Given the description of an element on the screen output the (x, y) to click on. 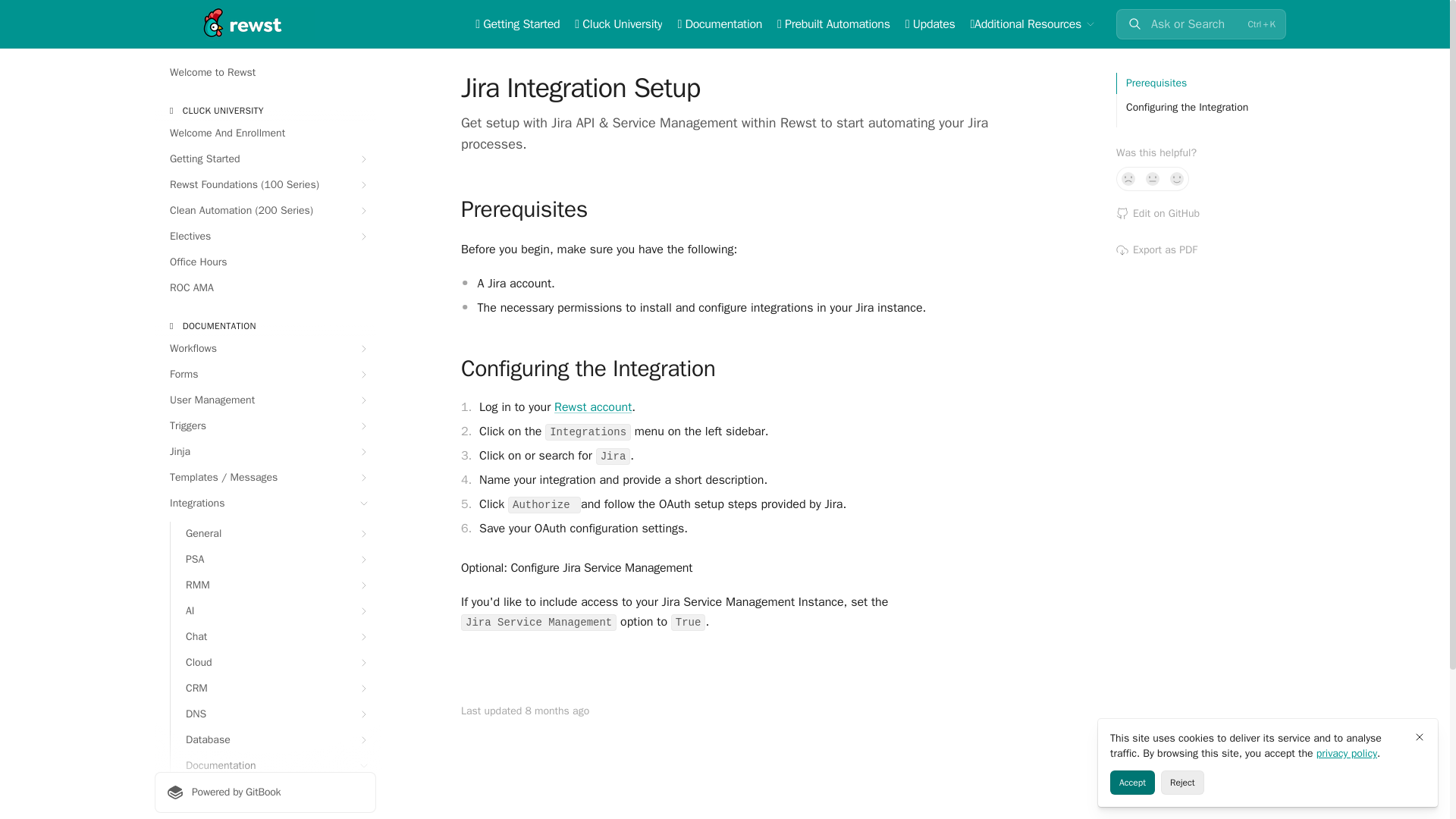
Yes, it was! (1176, 178)
No (1128, 178)
Not sure (1152, 178)
Getting Started (264, 159)
Welcome And Enrollment (264, 133)
Welcome to Rewst (264, 72)
Close (1419, 737)
